Given the description of an element on the screen output the (x, y) to click on. 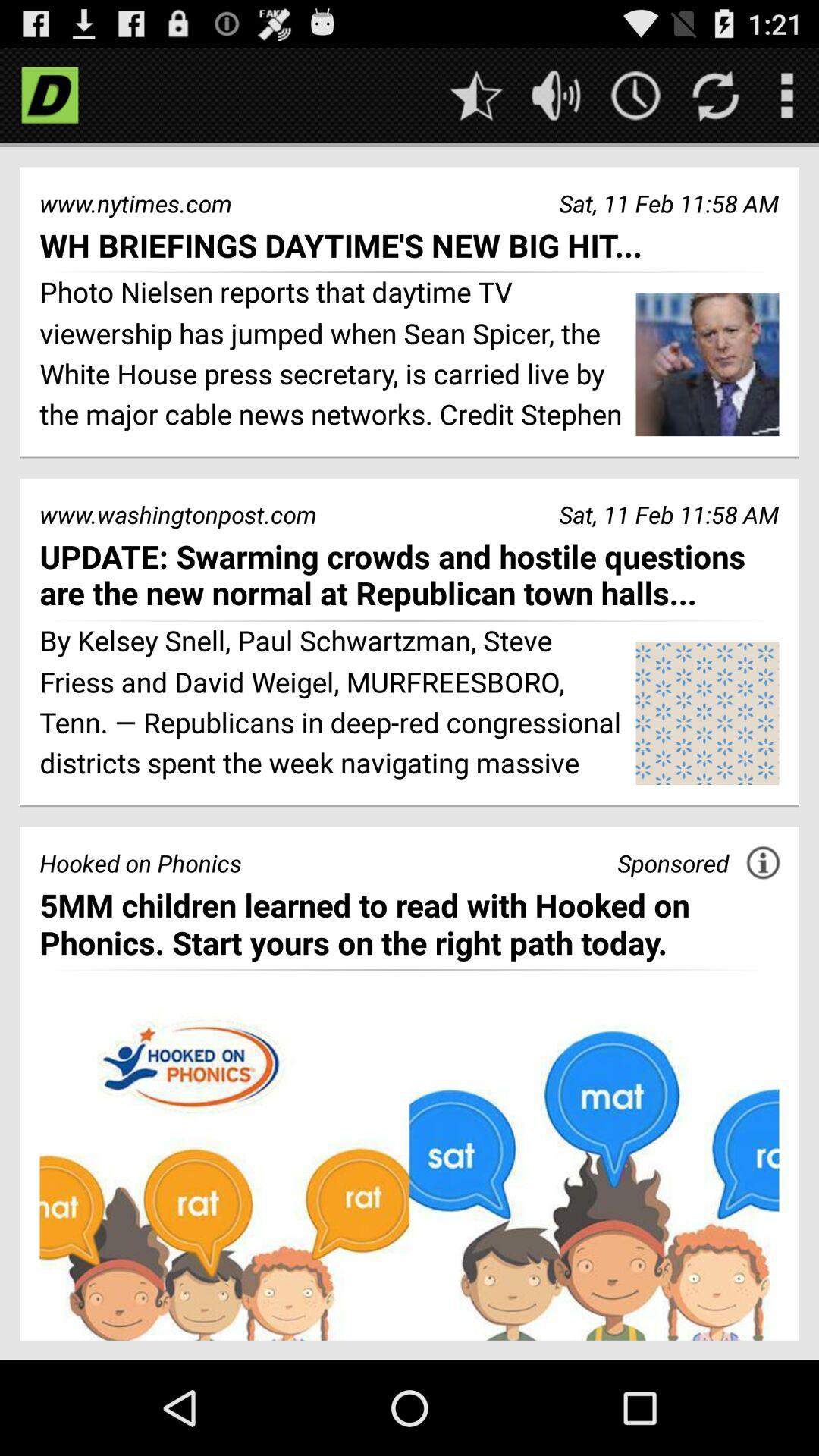
refresh (715, 95)
